Given the description of an element on the screen output the (x, y) to click on. 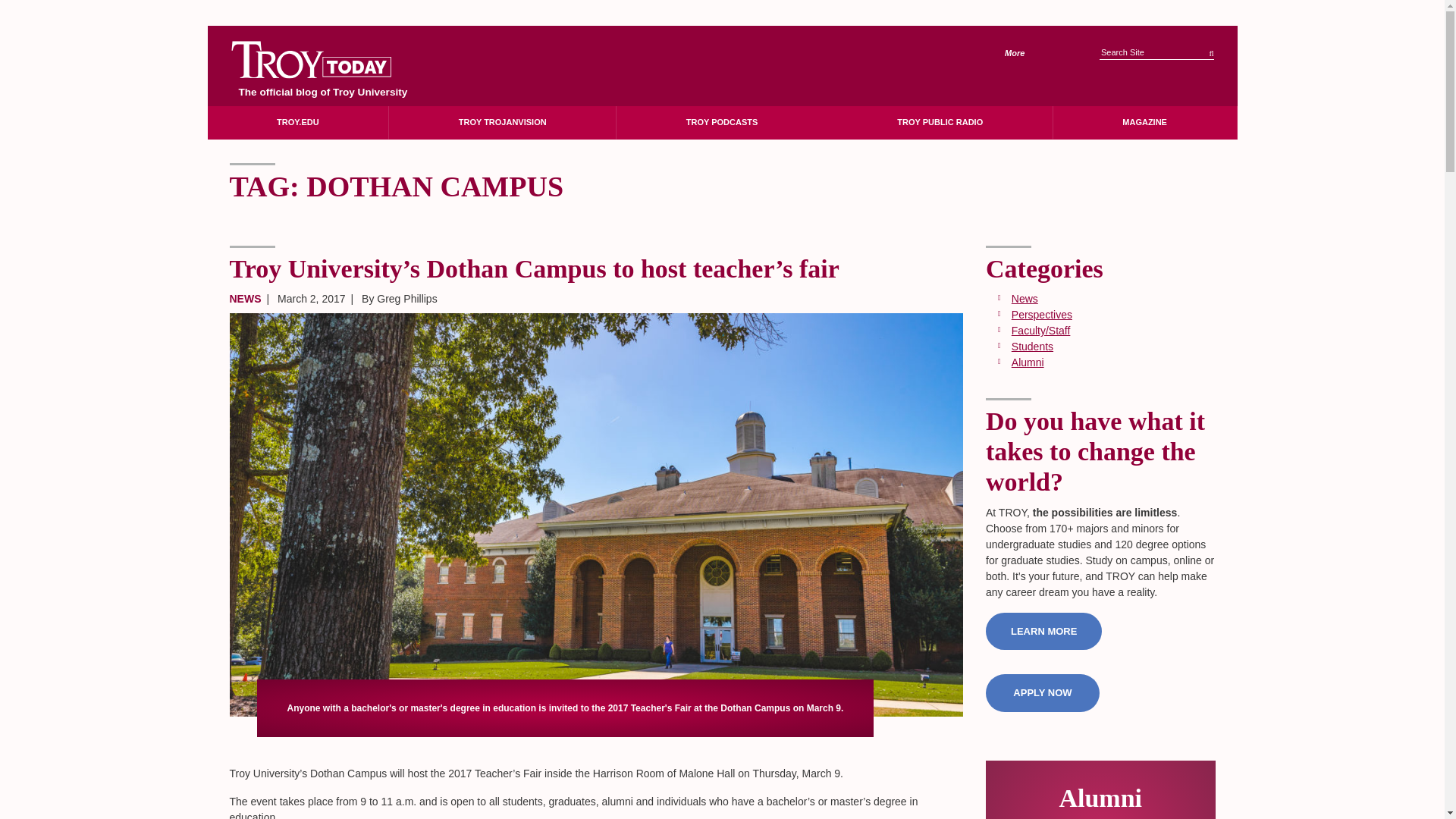
TROY Public Radio (940, 122)
TROY PUBLIC RADIO (940, 122)
TROY TROJANVISION (501, 122)
TROY PODCASTS (721, 122)
TROY.EDU (298, 122)
Search (1211, 48)
TROY Podcasts (721, 122)
More (1024, 53)
MAGAZINE (1144, 122)
NEWS (244, 298)
